Given the description of an element on the screen output the (x, y) to click on. 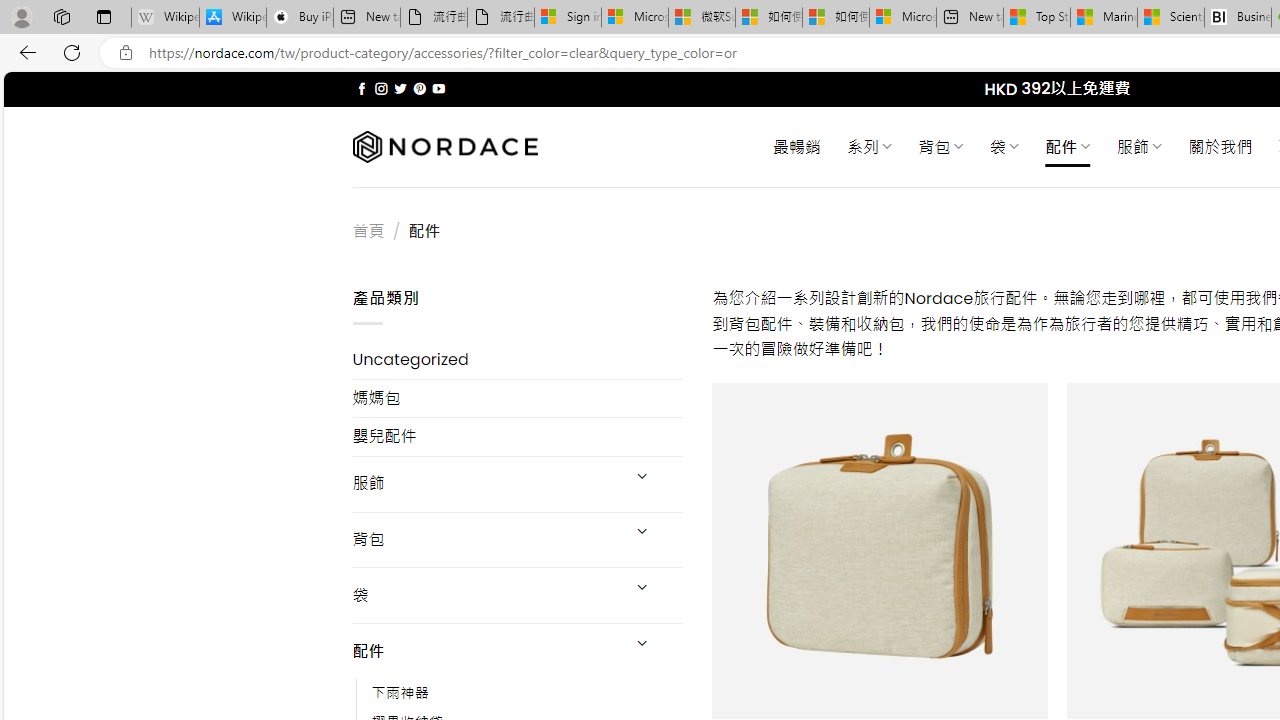
Follow on YouTube (438, 88)
